Given the description of an element on the screen output the (x, y) to click on. 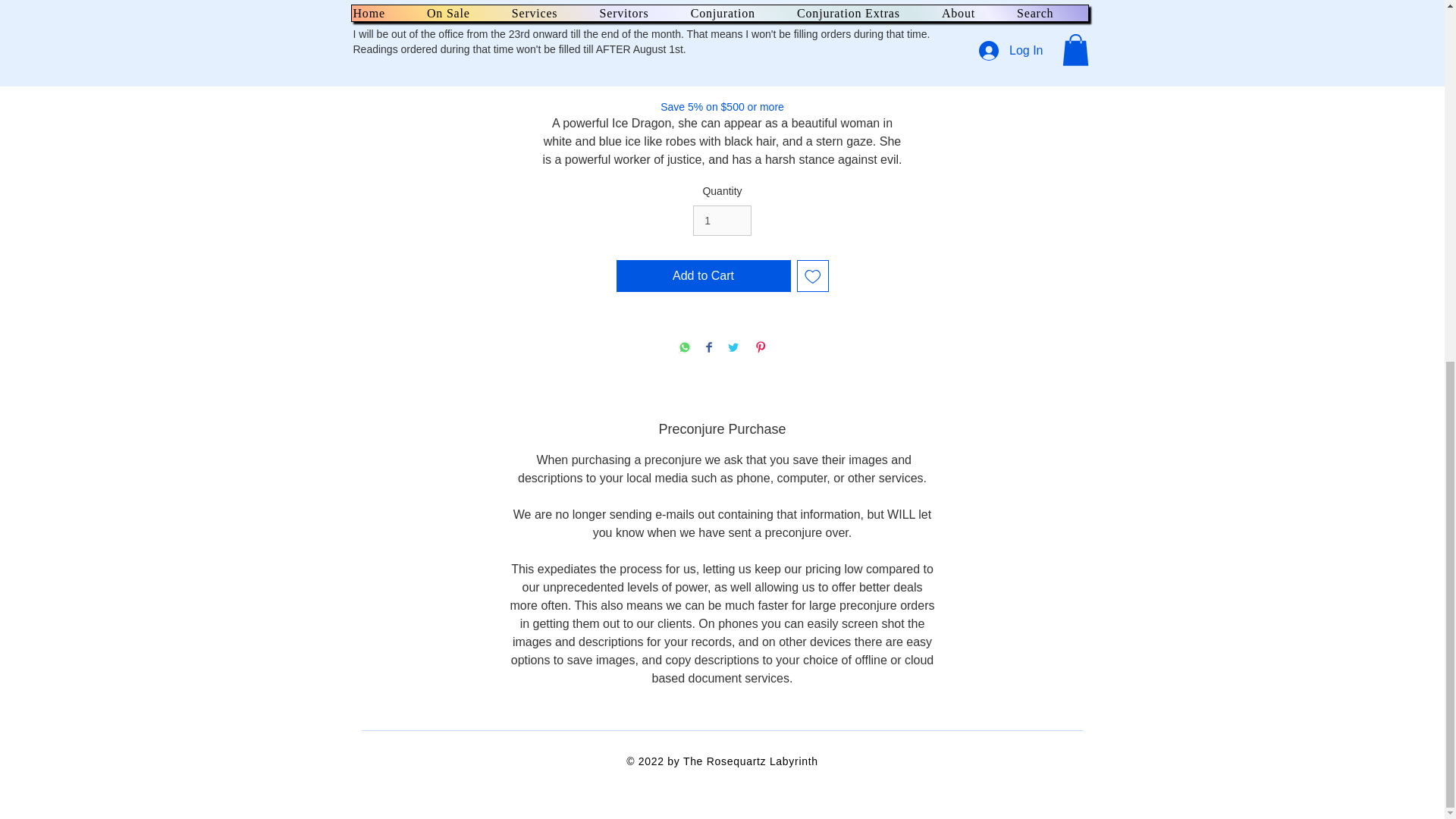
1 (722, 220)
Add to Cart (702, 275)
